Given the description of an element on the screen output the (x, y) to click on. 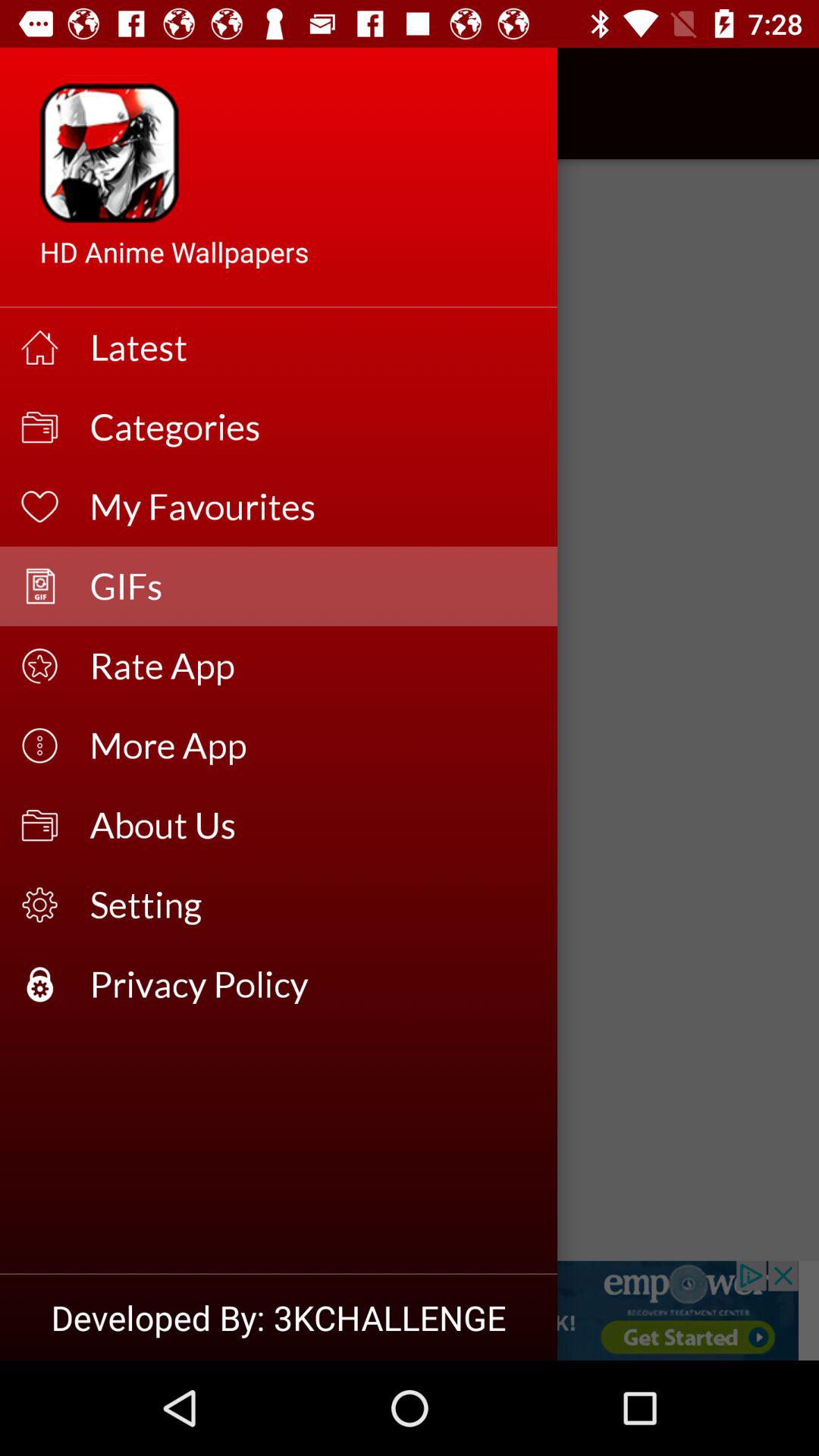
click the item above about us icon (313, 745)
